Given the description of an element on the screen output the (x, y) to click on. 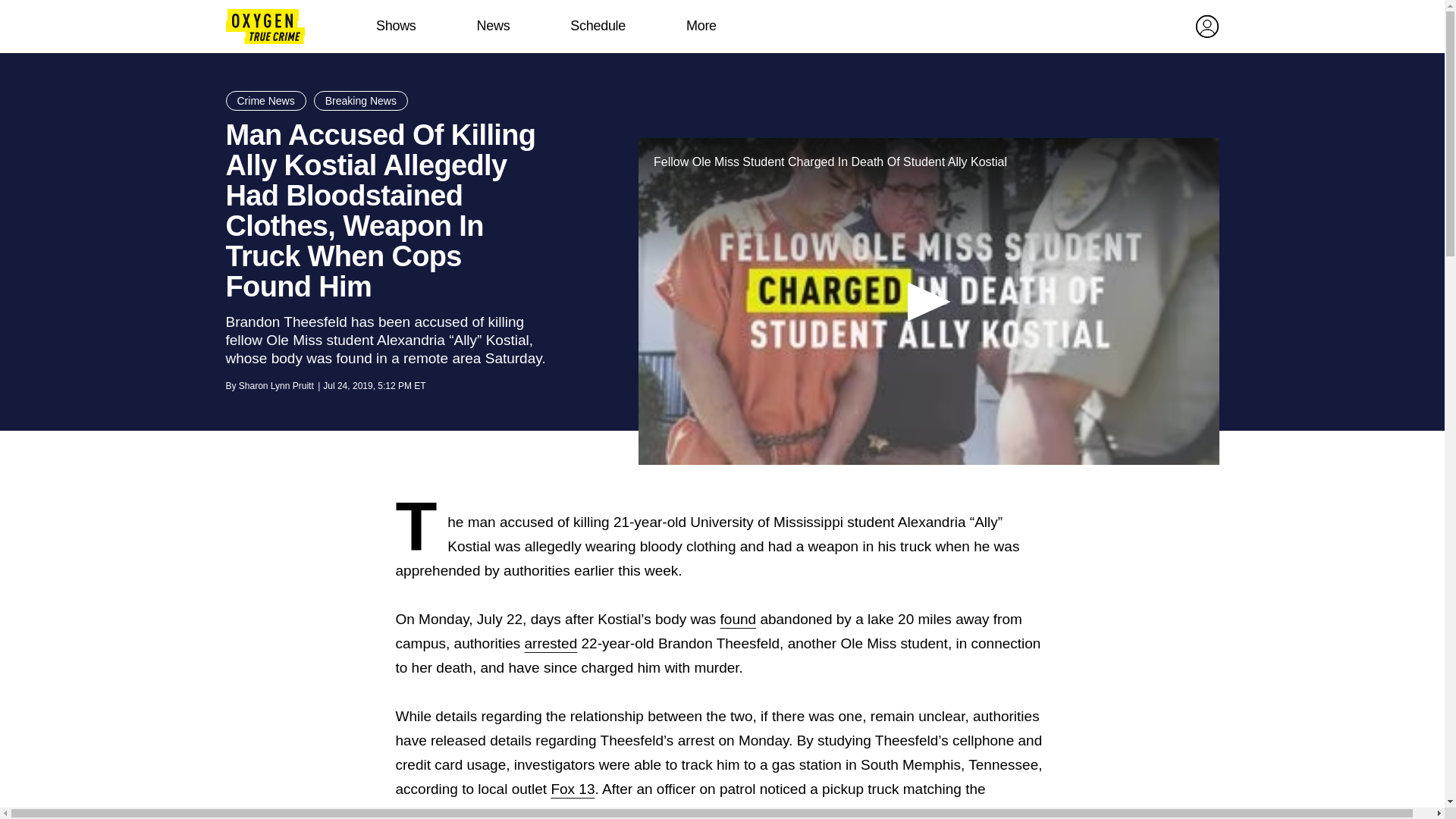
Crime News (265, 100)
Fox 13 (572, 788)
Shows (395, 26)
Breaking News (360, 100)
arrested (551, 643)
More (700, 26)
News (492, 26)
Sharon Lynn Pruitt (276, 385)
found (738, 618)
Schedule (598, 26)
